Given the description of an element on the screen output the (x, y) to click on. 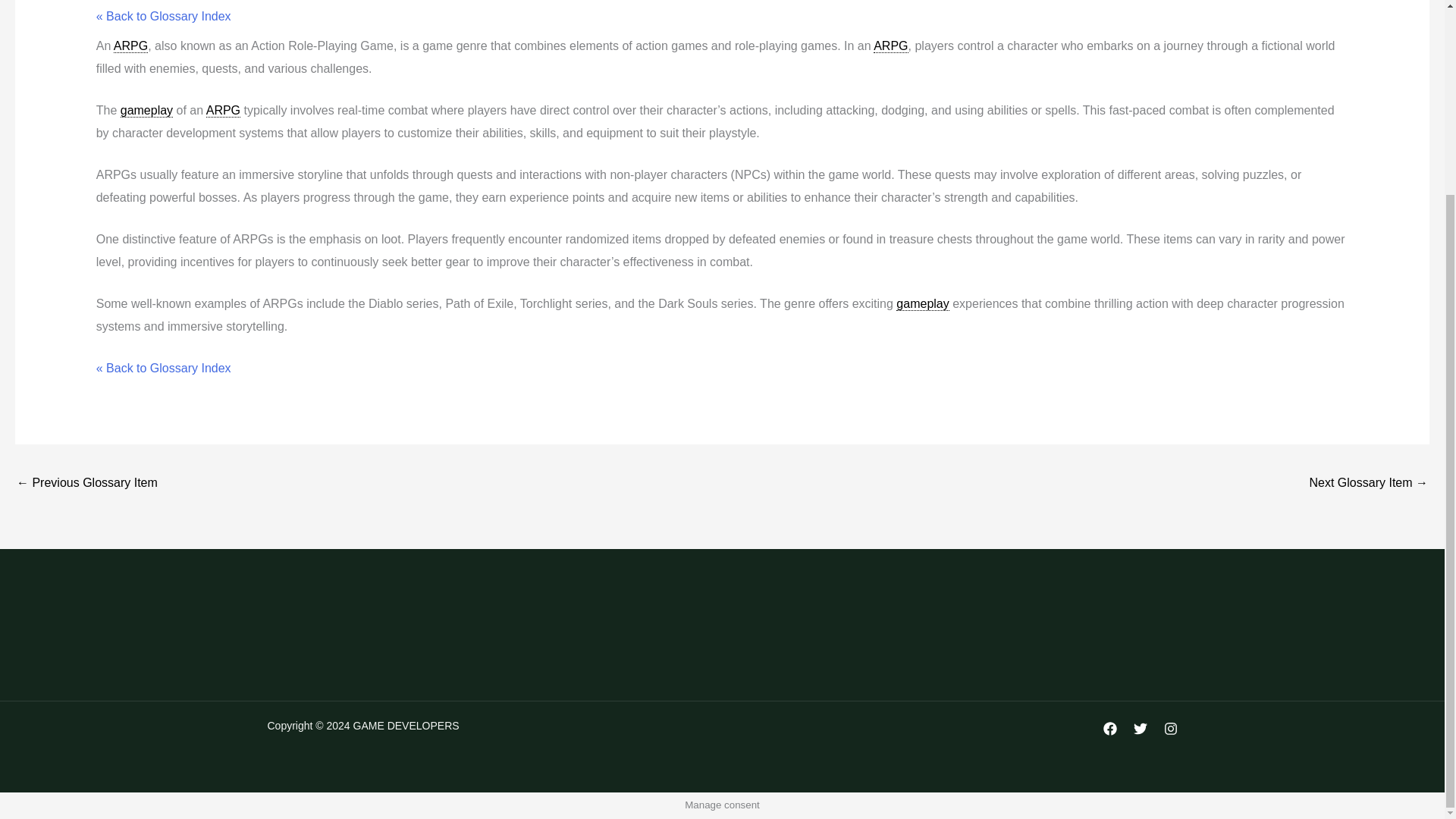
ARPG (890, 46)
ARPG (130, 46)
Alpha (86, 483)
